Given the description of an element on the screen output the (x, y) to click on. 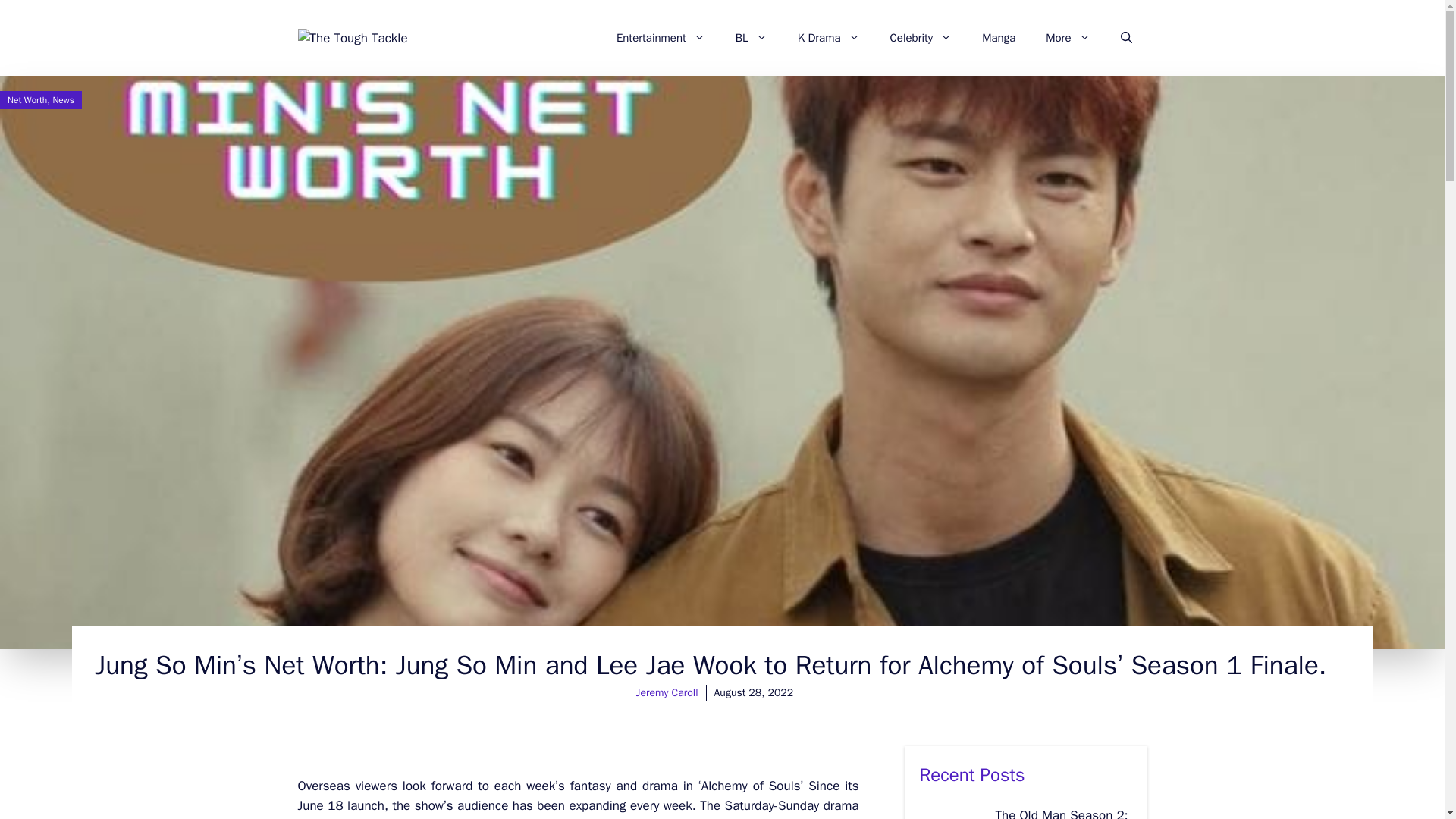
Jeremy Caroll (667, 692)
More (1067, 37)
BL (751, 37)
Entertainment (660, 37)
K Drama (829, 37)
Celebrity (921, 37)
News (63, 100)
Manga (998, 37)
Net Worth (26, 100)
